Given the description of an element on the screen output the (x, y) to click on. 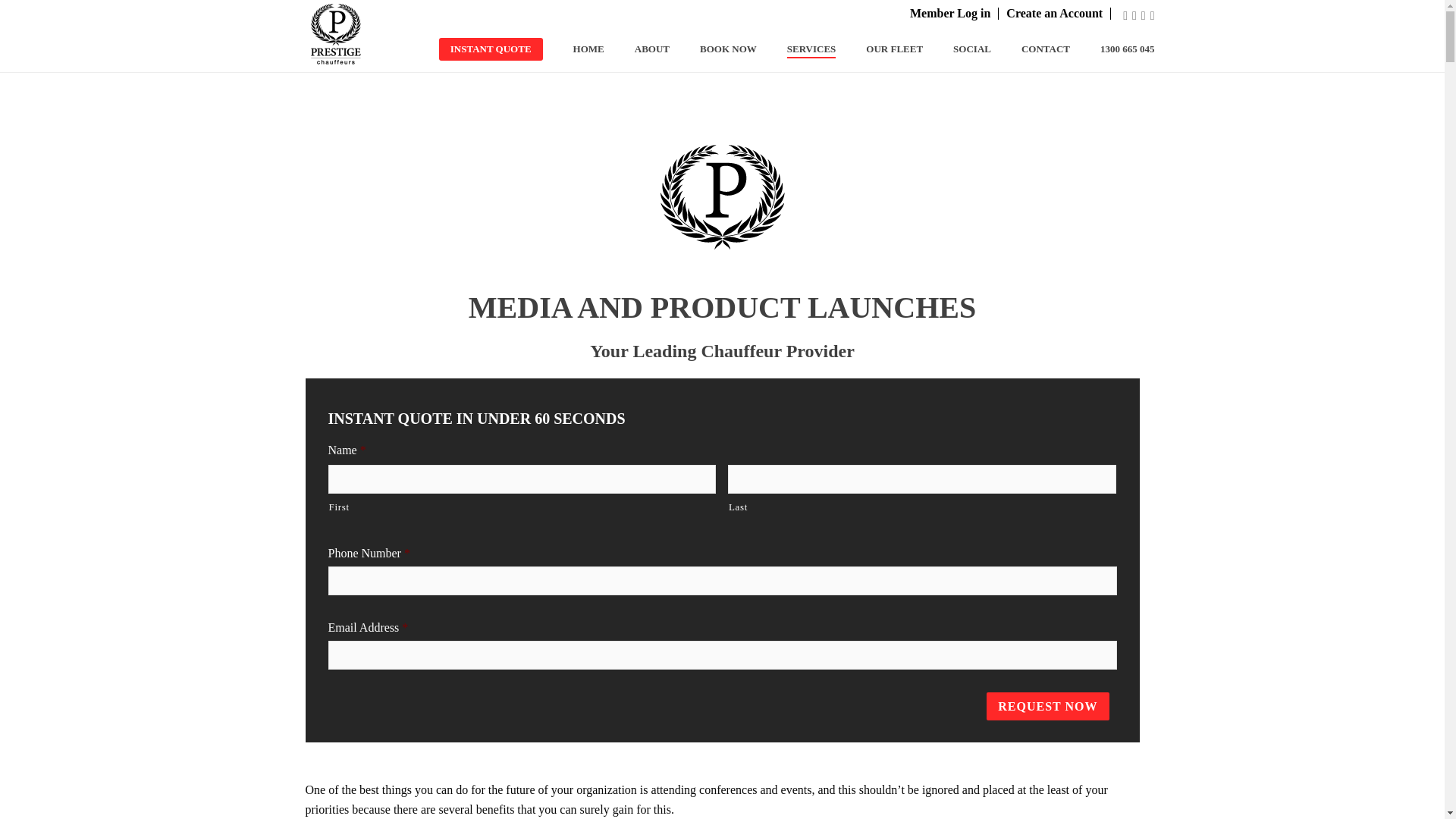
HOME (573, 49)
SERVICES (796, 49)
SOCIAL (957, 49)
ABOUT (636, 49)
instagram (1152, 15)
BOOK NOW (713, 49)
Member Log in (954, 13)
Create an Account (1058, 13)
Request Now (1047, 706)
googleplus (1143, 15)
facebook (1124, 15)
twitter (1134, 15)
INSTANT QUOTE (490, 49)
OUR FLEET (879, 49)
